Given the description of an element on the screen output the (x, y) to click on. 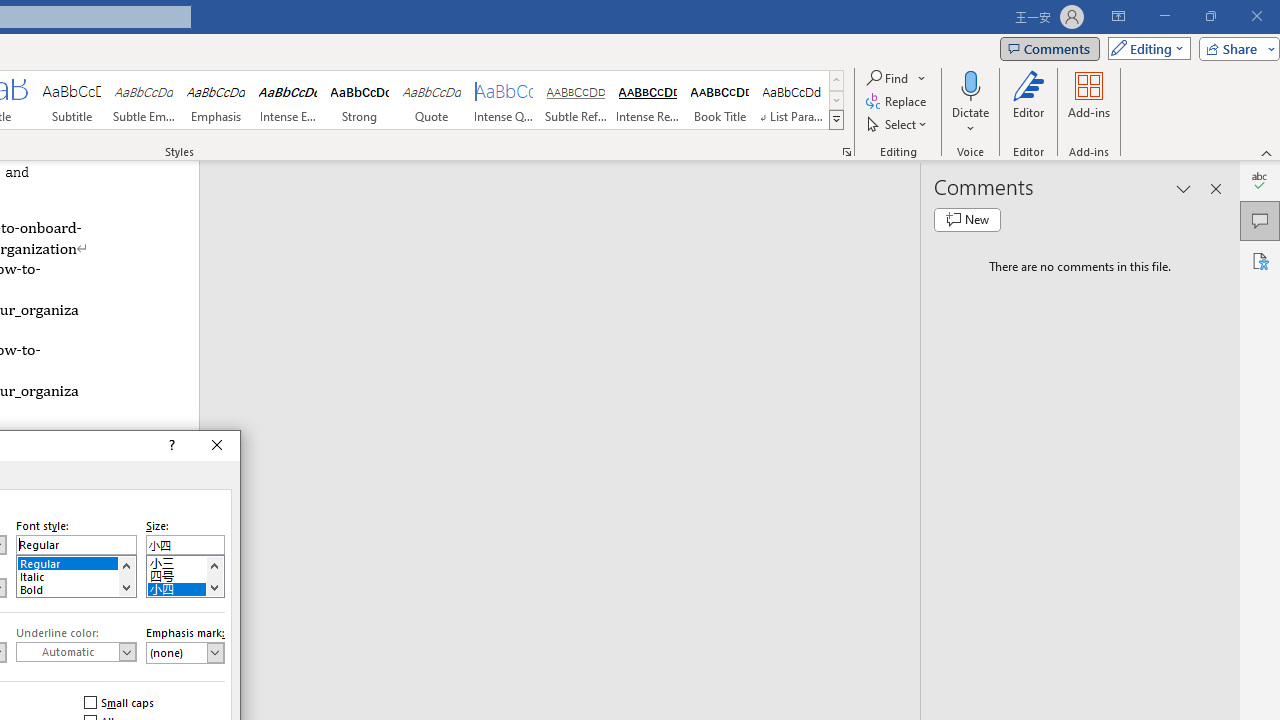
AutomationID: 1795 (125, 576)
Subtle Reference (575, 100)
Book Title (719, 100)
Replace... (897, 101)
Find (896, 78)
Italic (75, 574)
Task Pane Options (1183, 188)
Subtle Emphasis (143, 100)
Intense Emphasis (287, 100)
Editor (1028, 102)
Editing (1144, 47)
